Given the description of an element on the screen output the (x, y) to click on. 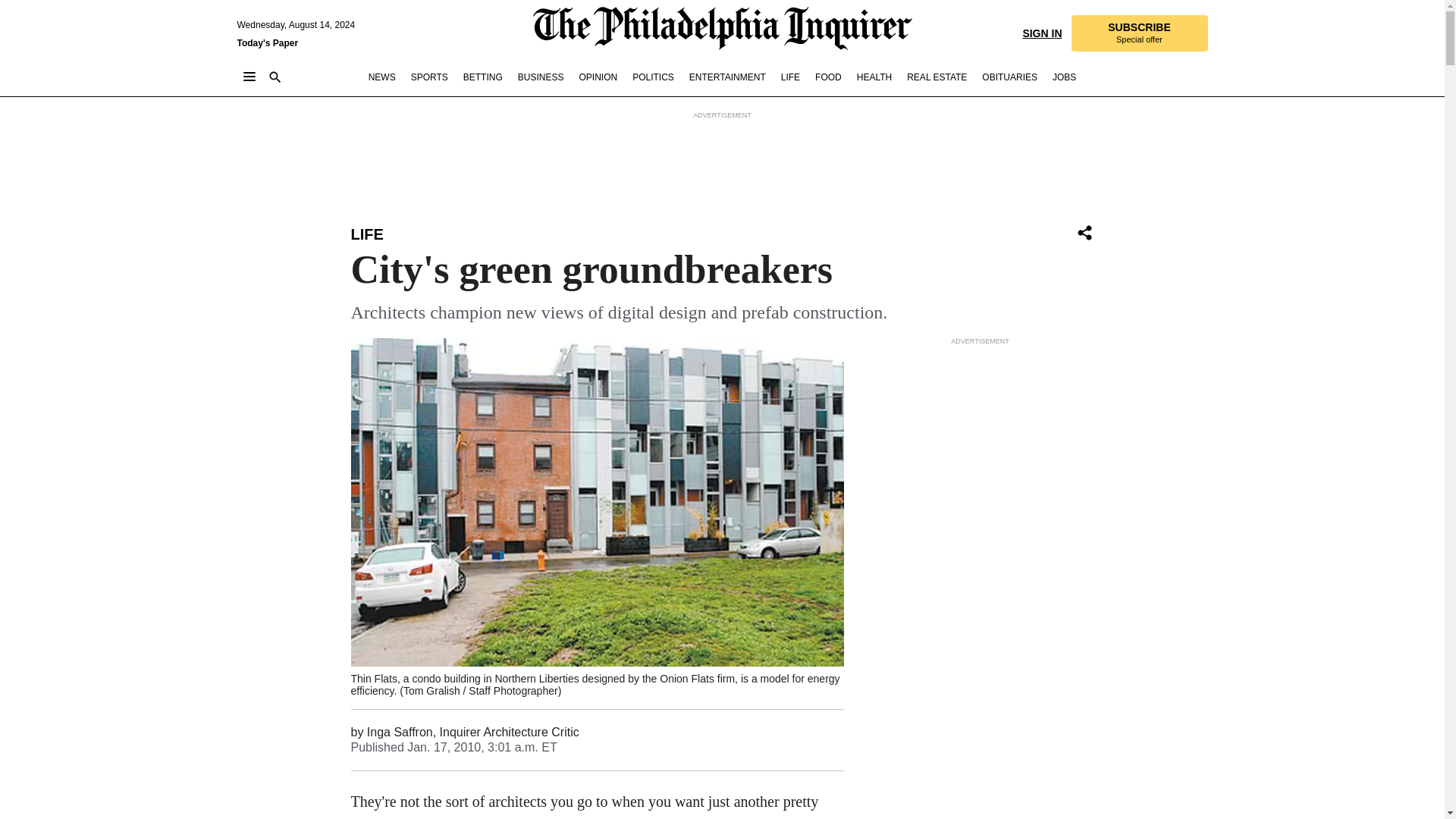
ENTERTAINMENT (726, 77)
BUSINESS (541, 77)
Share Icon (1084, 233)
Share Icon (1084, 232)
REAL ESTATE (936, 77)
LIFE (366, 234)
POLITICS (652, 77)
BETTING (482, 77)
Life (366, 234)
OPINION (597, 77)
